Given the description of an element on the screen output the (x, y) to click on. 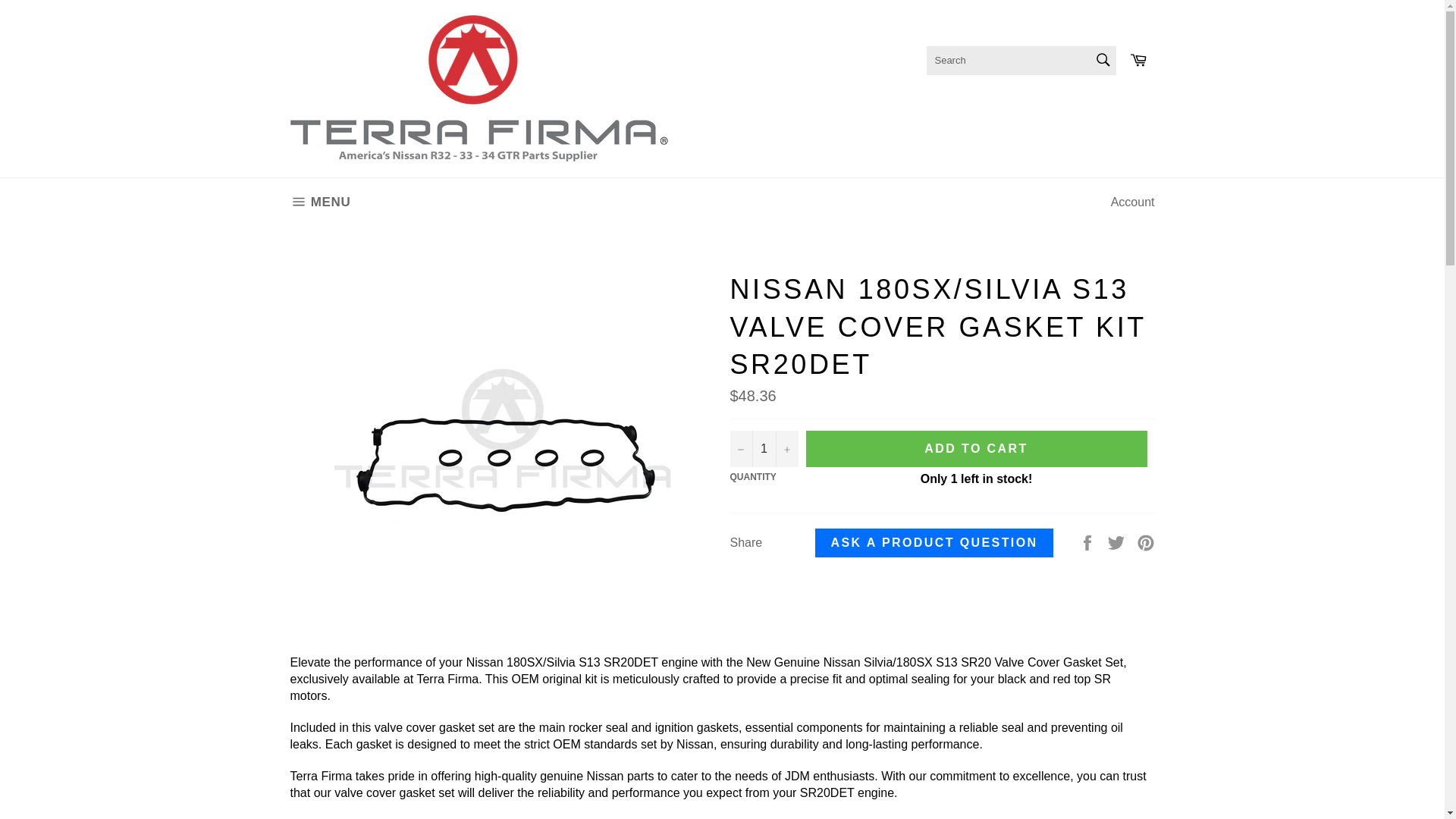
Pin on Pinterest (1144, 541)
Tweet on Twitter (1117, 541)
1 (763, 448)
Share on Facebook (1088, 541)
